Given the description of an element on the screen output the (x, y) to click on. 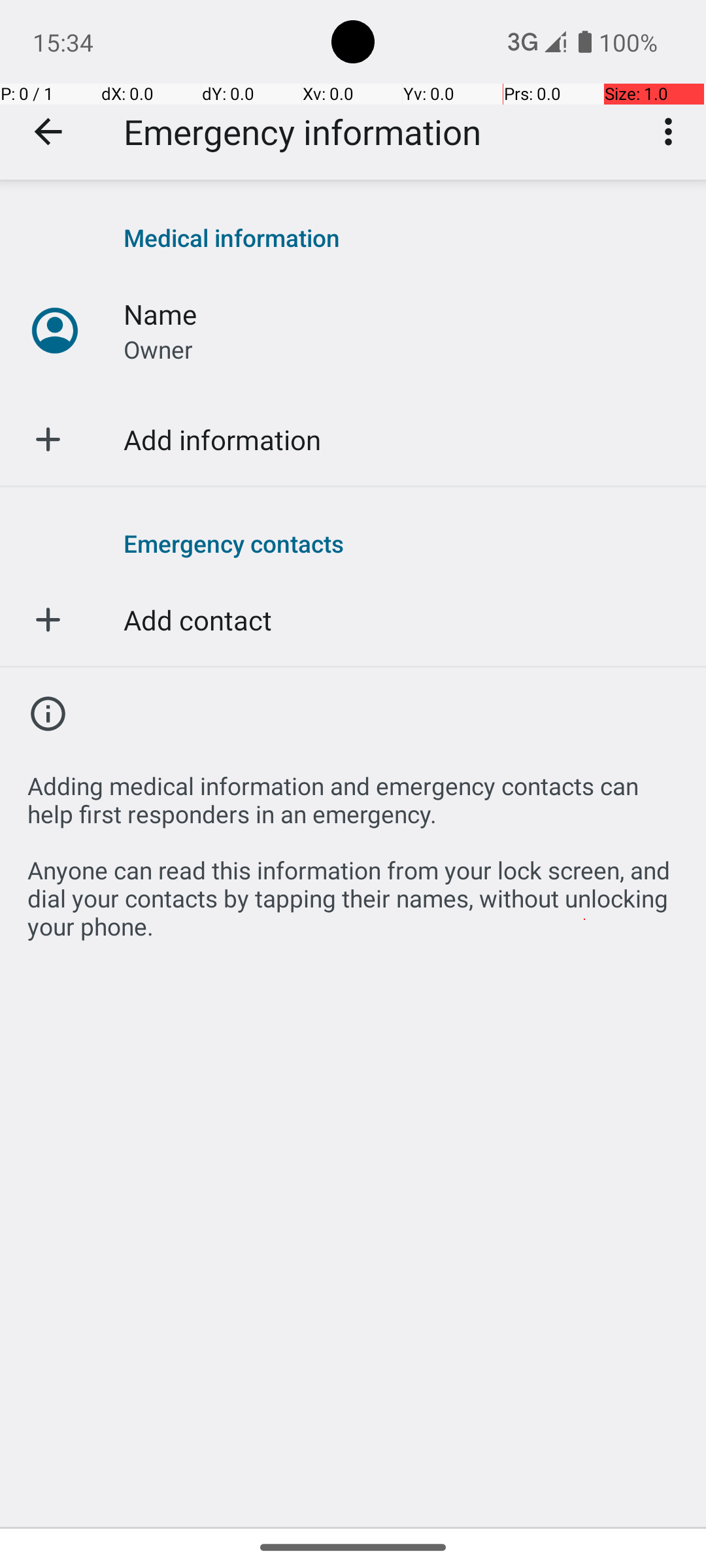
Emergency information Element type: android.widget.TextView (302, 131)
Medical information Element type: android.widget.TextView (400, 237)
Owner Element type: android.widget.TextView (157, 348)
Add information Element type: android.widget.TextView (221, 438)
Emergency contacts Element type: android.widget.TextView (400, 542)
Add contact Element type: android.widget.TextView (197, 619)
Adding medical information and emergency contacts can help first responders in an emergency.

Anyone can read this information from your lock screen, and dial your contacts by tapping their names, without unlocking your phone. Element type: android.widget.TextView (352, 848)
